Given the description of an element on the screen output the (x, y) to click on. 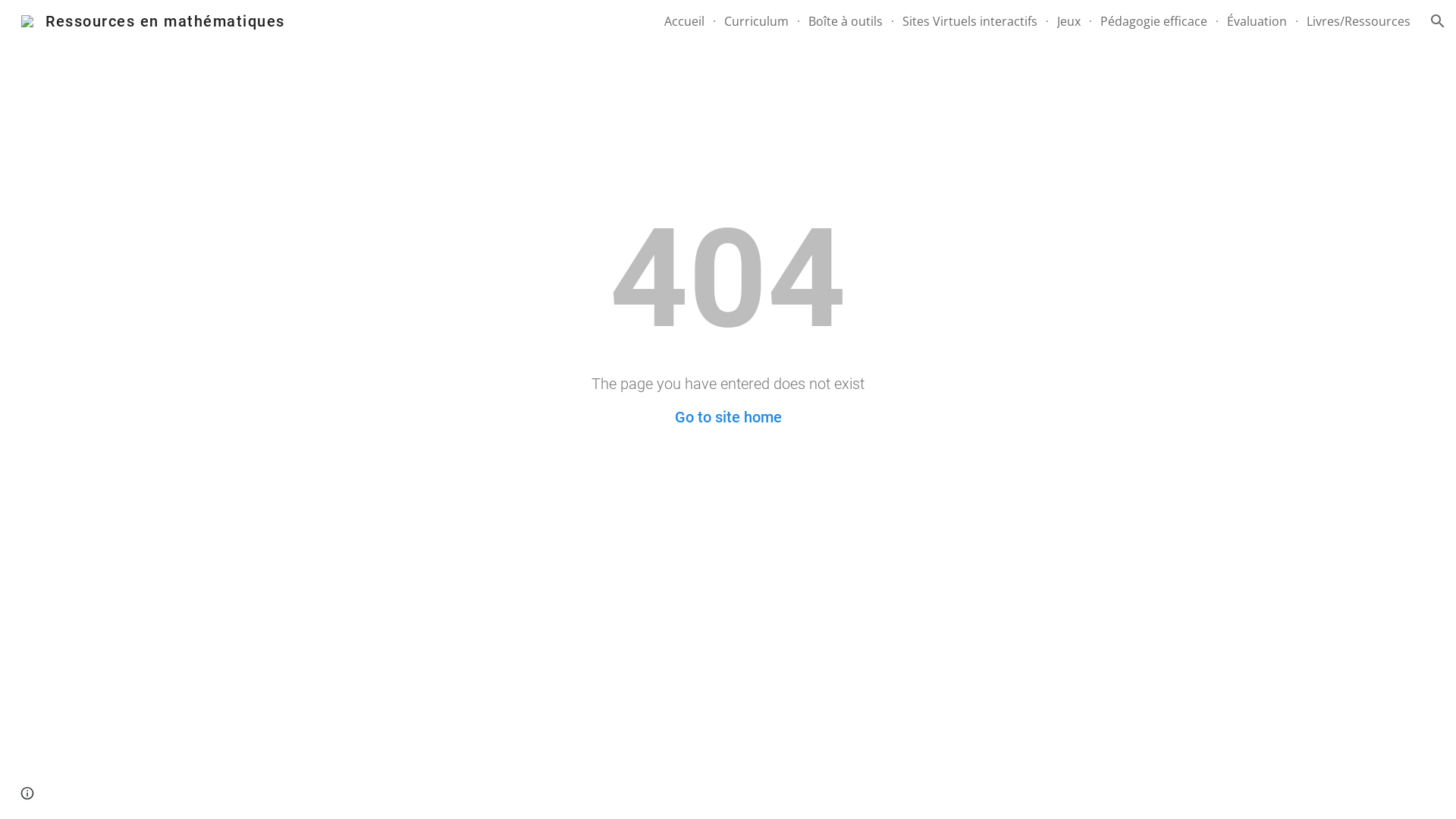
Accueil Element type: text (684, 20)
Curriculum Element type: text (756, 20)
Jeux Element type: text (1068, 20)
Sites Virtuels interactifs Element type: text (969, 20)
Go to site home Element type: text (727, 416)
Livres/Ressources Element type: text (1358, 20)
